Given the description of an element on the screen output the (x, y) to click on. 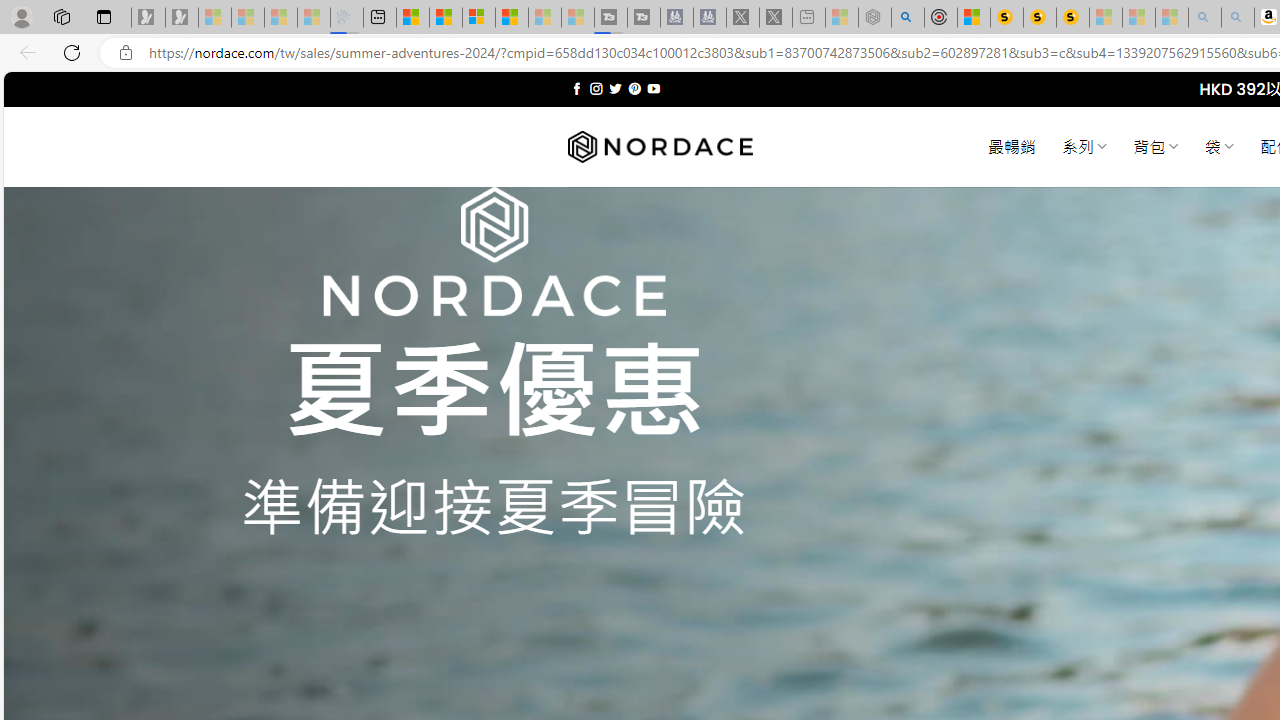
Nordace (659, 147)
Overview (479, 17)
Personal Profile (21, 16)
Tab actions menu (104, 16)
Newsletter Sign Up - Sleeping (182, 17)
Follow on Instagram (596, 88)
